Given the description of an element on the screen output the (x, y) to click on. 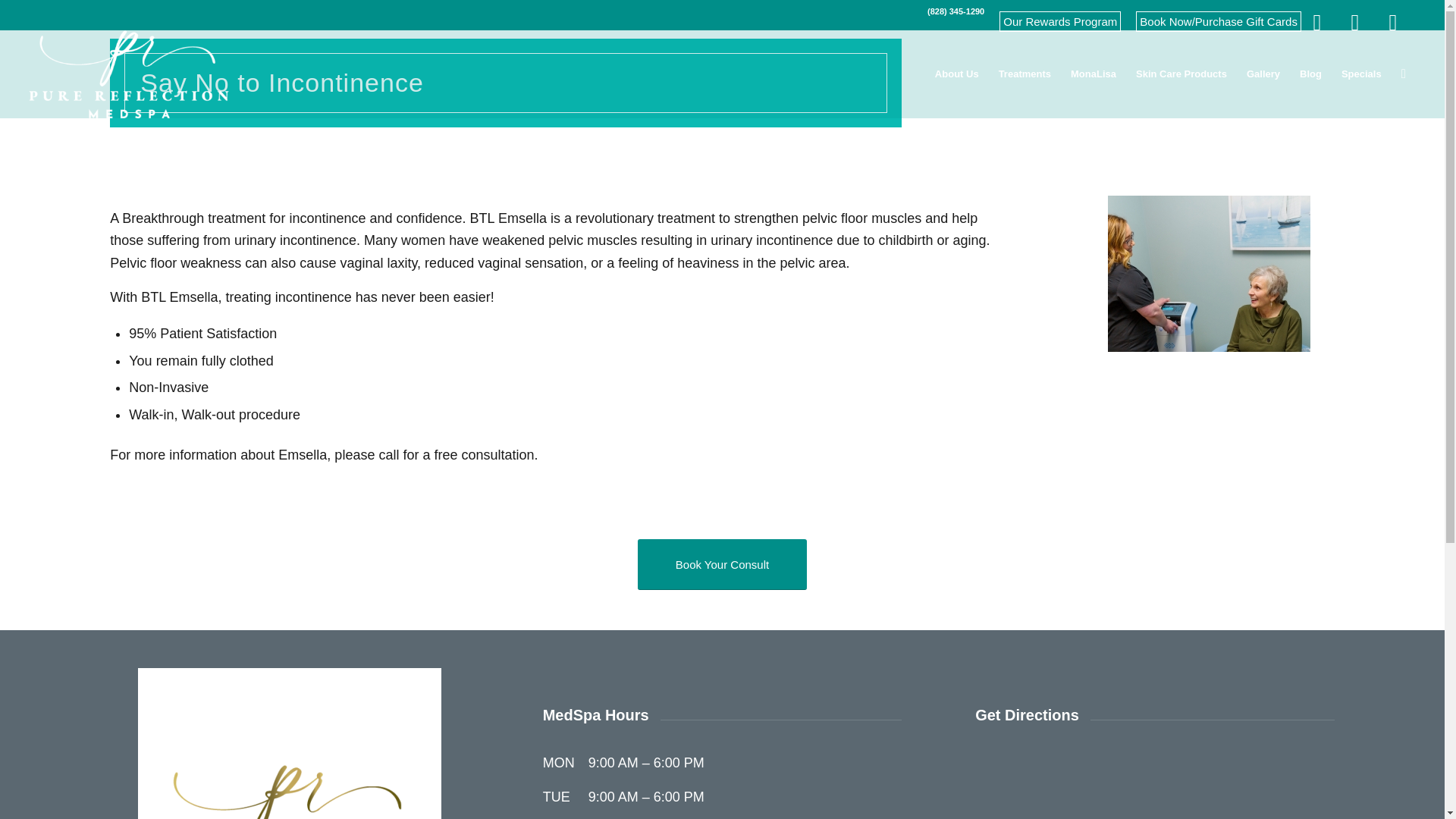
Facebook (1316, 22)
About Us (956, 73)
Skin Care Products (1180, 73)
Specials (1361, 73)
Book Your Consult (721, 563)
Blog (1311, 73)
Map (1392, 22)
Treatments (1024, 73)
Our Rewards Program (1059, 21)
MonaLisa (1093, 73)
Instagram (1354, 22)
Gallery (1263, 73)
